Given the description of an element on the screen output the (x, y) to click on. 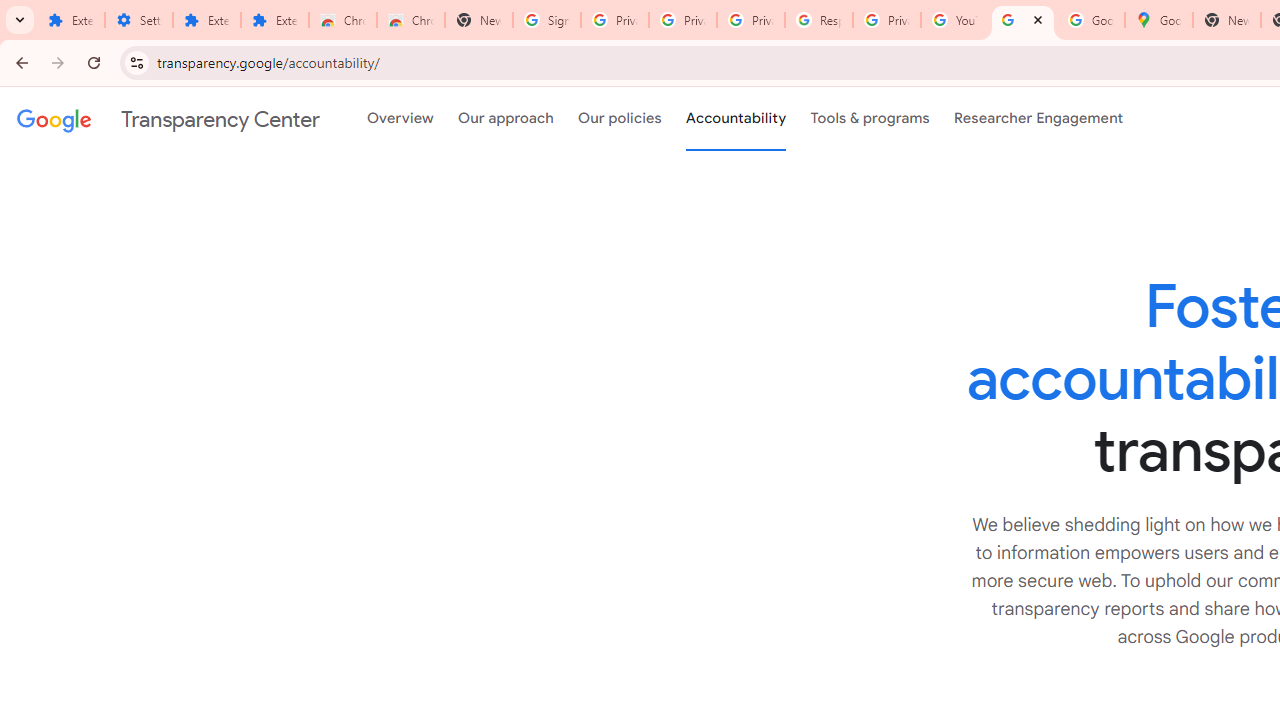
Overview (399, 119)
Transparency Center (167, 119)
Chrome Web Store (342, 20)
New Tab (1226, 20)
Tools & programs (869, 119)
Our approach (506, 119)
New Tab (479, 20)
Chrome Web Store - Themes (411, 20)
Sign in - Google Accounts (547, 20)
Policy Accountability and Transparency - Transparency Center (1023, 20)
